Given the description of an element on the screen output the (x, y) to click on. 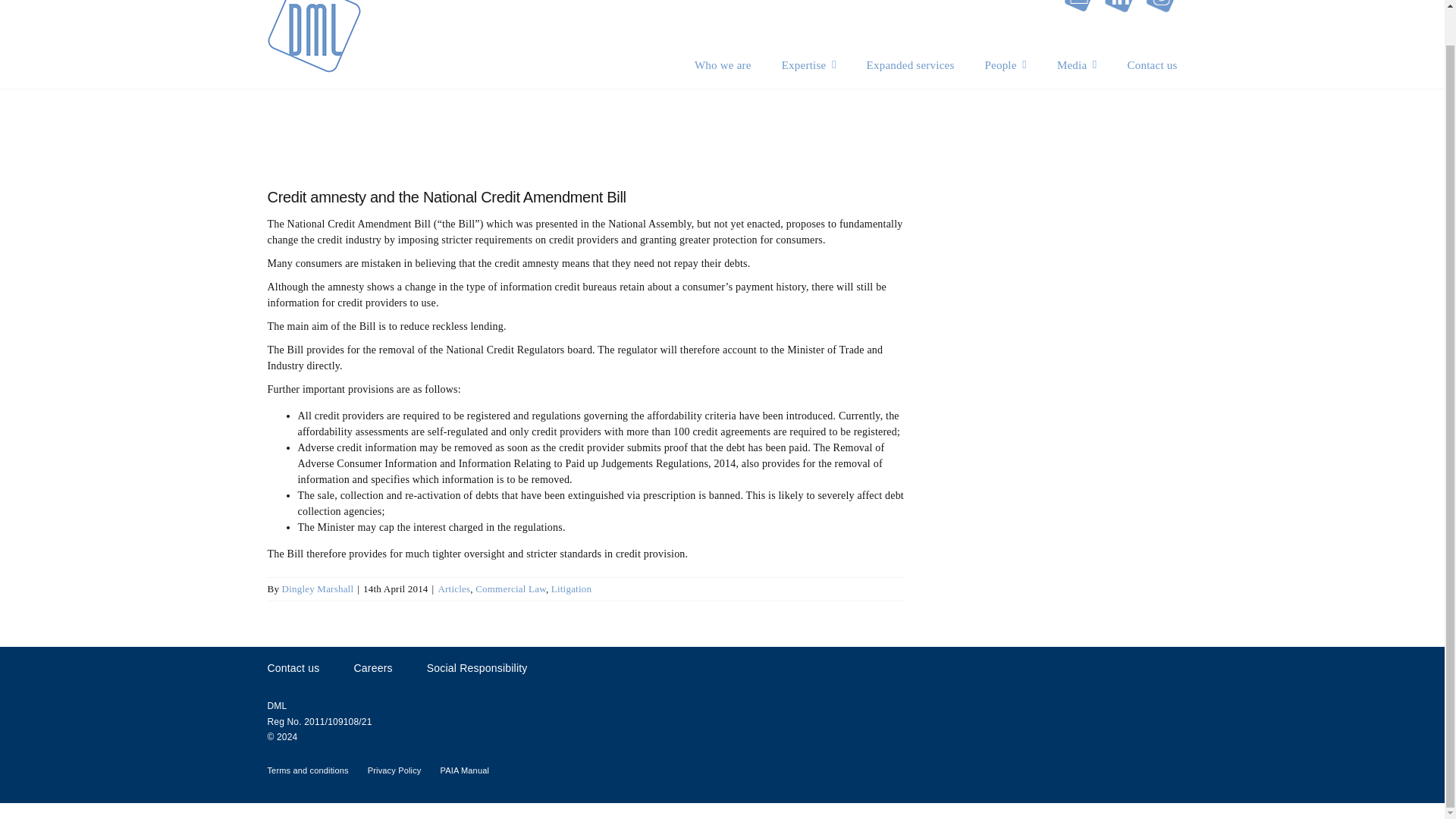
Who we are (722, 64)
Commercial Law (511, 588)
Careers (372, 668)
Expertise (808, 64)
Contact us (1151, 64)
Posts by Dingley Marshall (317, 588)
Articles (454, 588)
Media (1077, 64)
Terms and conditions (306, 770)
Expanded services (910, 64)
